Given the description of an element on the screen output the (x, y) to click on. 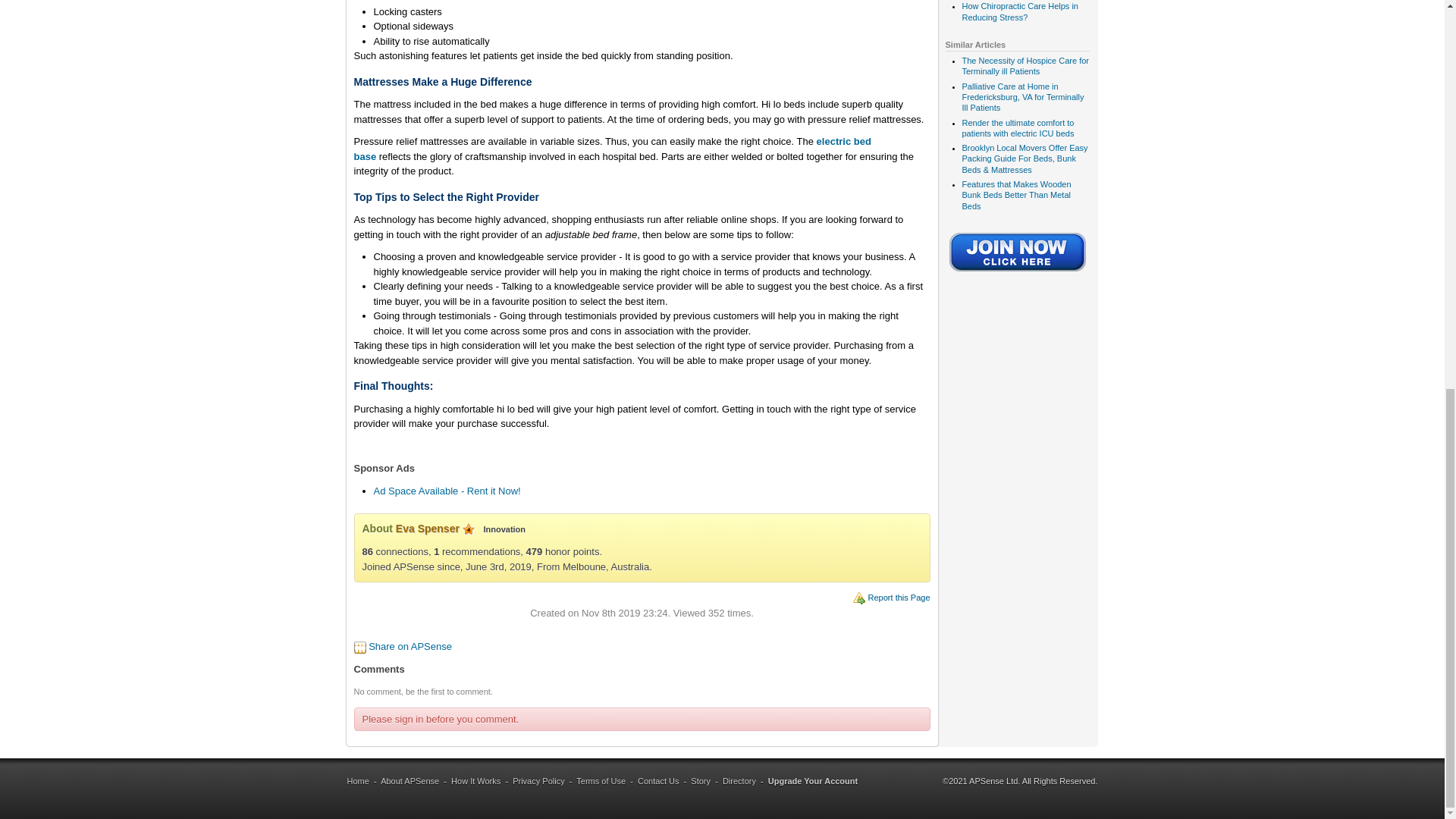
Ad Space Available - Rent it Now! (445, 490)
Eva Spenser (428, 528)
Advanced (468, 529)
Share on APSense (409, 645)
Share on APSense (409, 645)
Report this Page (898, 596)
electric bed base (611, 148)
Join APSense Social Network (1017, 272)
Features that Makes Wooden Bunk Beds Better Than Metal Beds (1015, 194)
The Necessity of Hospice Care for Terminally ill Patients (1024, 66)
How Chiropractic Care Helps in Reducing Stress? (1018, 11)
